Given the description of an element on the screen output the (x, y) to click on. 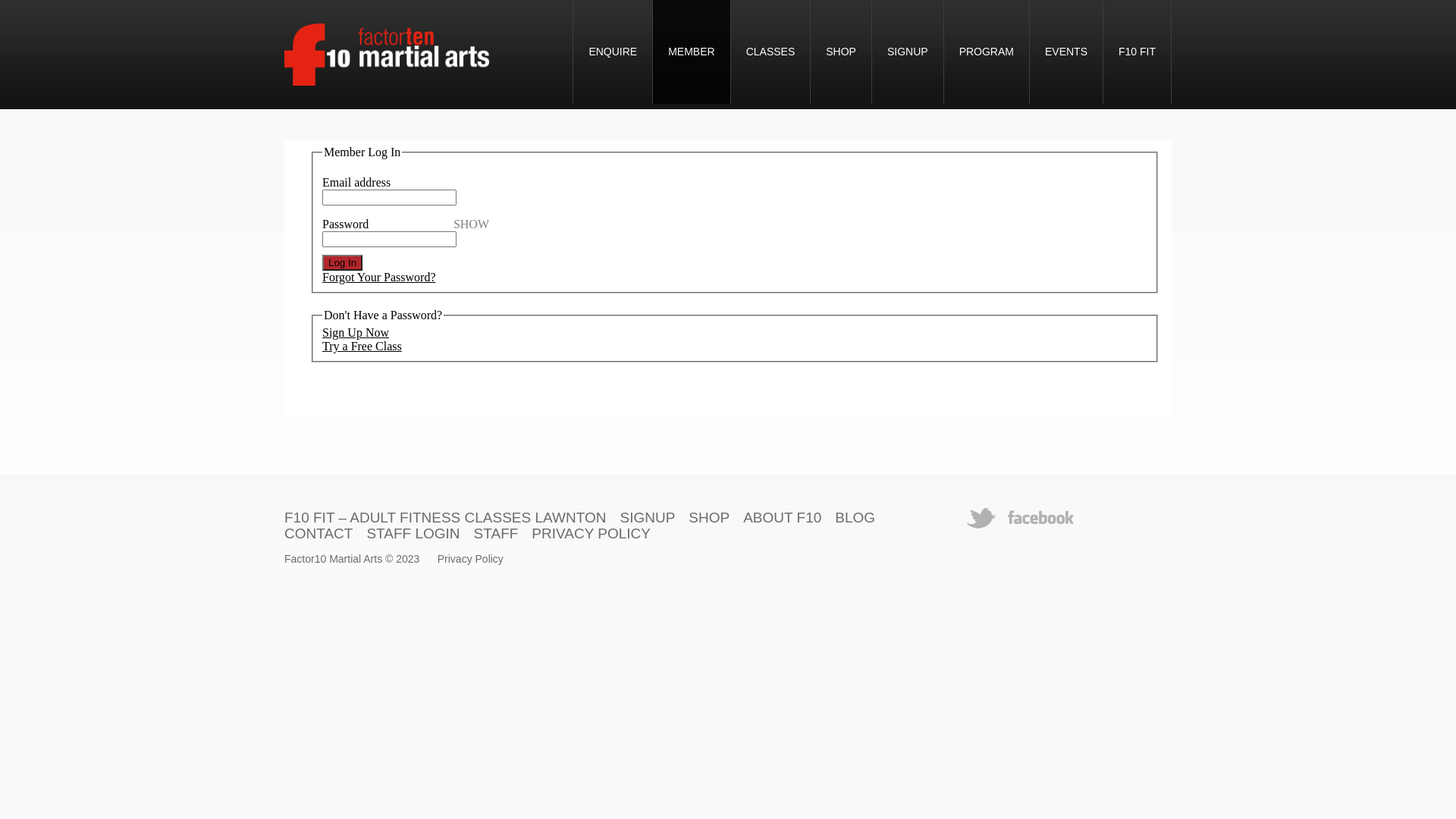
Privacy Policy Element type: text (470, 558)
SHOP Element type: text (840, 51)
STAFF LOGIN Element type: text (412, 533)
CONTACT Element type: text (318, 533)
EVENTS Element type: text (1065, 51)
BLOG Element type: text (854, 517)
PRIVACY POLICY Element type: text (590, 533)
Factor10 Martial Arts Element type: text (333, 558)
SIGNUP Element type: text (646, 517)
F10 FIT Element type: text (1136, 51)
STAFF Element type: text (495, 533)
ABOUT F10 Element type: text (782, 517)
SHOP Element type: text (708, 517)
